Given the description of an element on the screen output the (x, y) to click on. 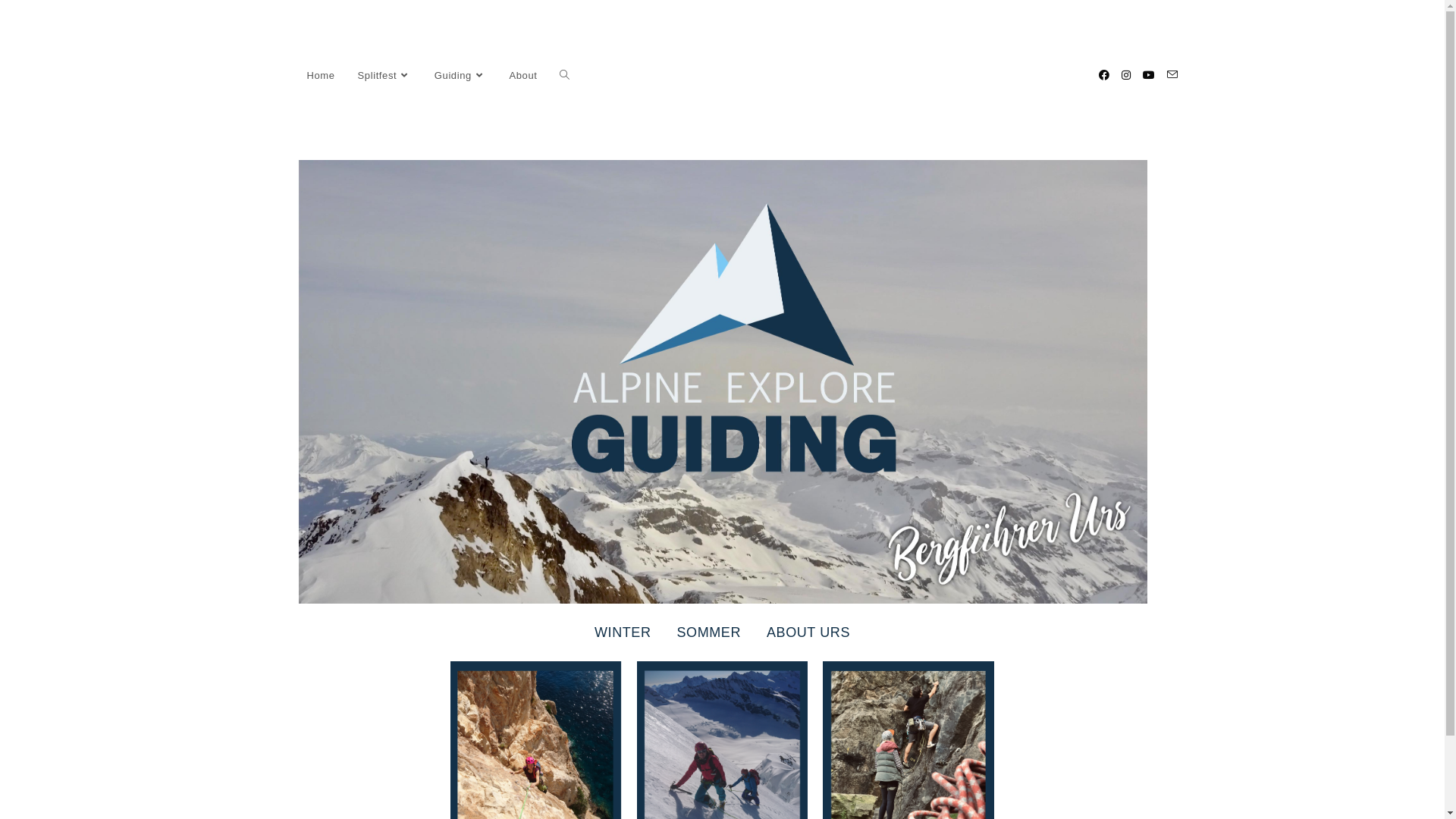
SOMMER Element type: text (708, 632)
About Element type: text (522, 75)
Splitfest Element type: text (384, 75)
Guiding Element type: text (460, 75)
WINTER Element type: text (622, 632)
ABOUT URS Element type: text (808, 632)
Home Element type: text (320, 75)
